Given the description of an element on the screen output the (x, y) to click on. 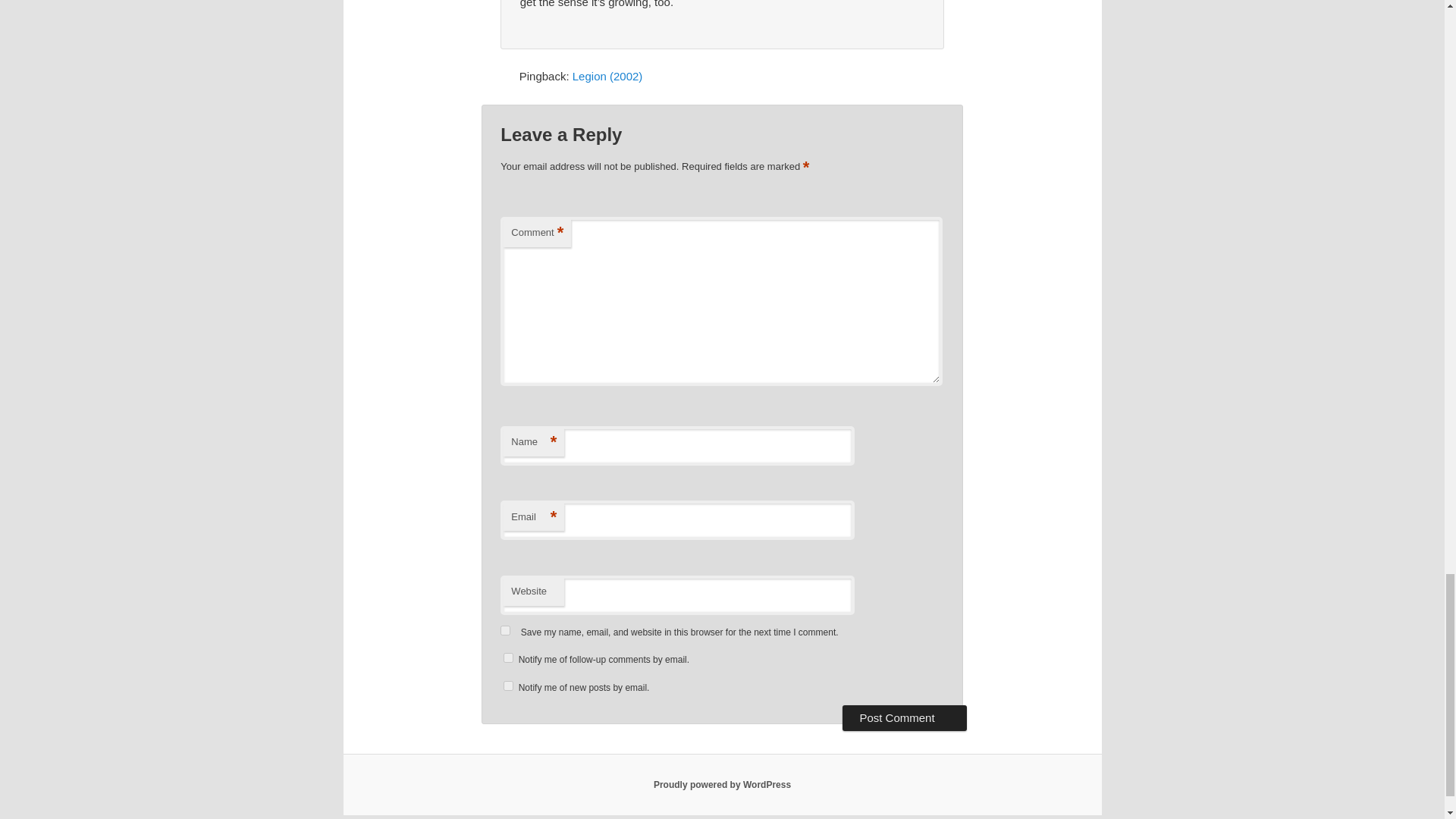
yes (505, 630)
subscribe (508, 685)
subscribe (508, 657)
Post Comment (904, 718)
